Given the description of an element on the screen output the (x, y) to click on. 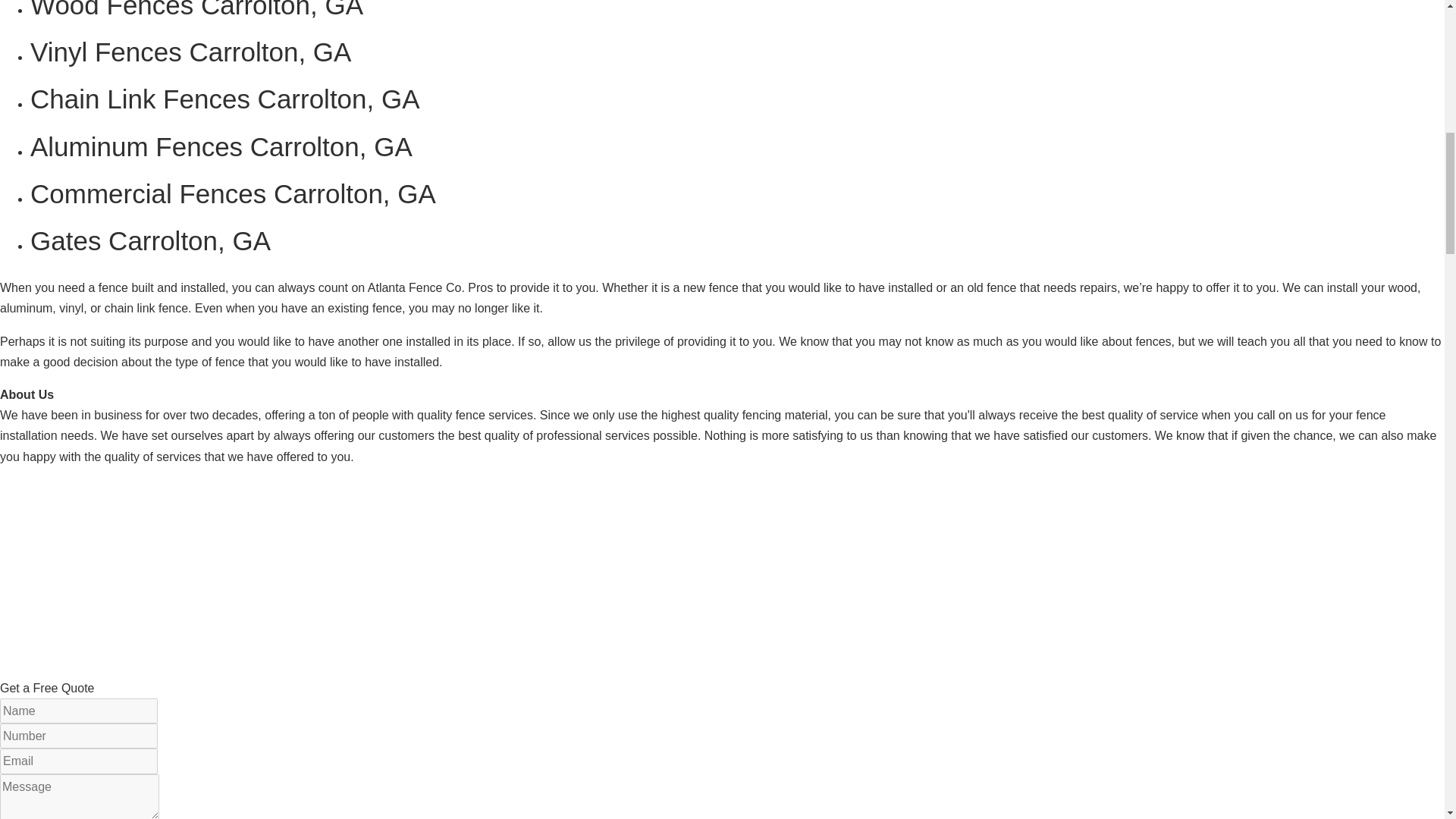
Gates Carrolton, GA (150, 240)
Wood Fences Carrolton, GA (196, 9)
Chain Link Fences Carrolton, GA (225, 98)
Vinyl Fences Carrolton, GA (190, 51)
Aluminum Fences Carrolton, GA (221, 146)
Commercial Fences Carrolton, GA (232, 193)
